Given the description of an element on the screen output the (x, y) to click on. 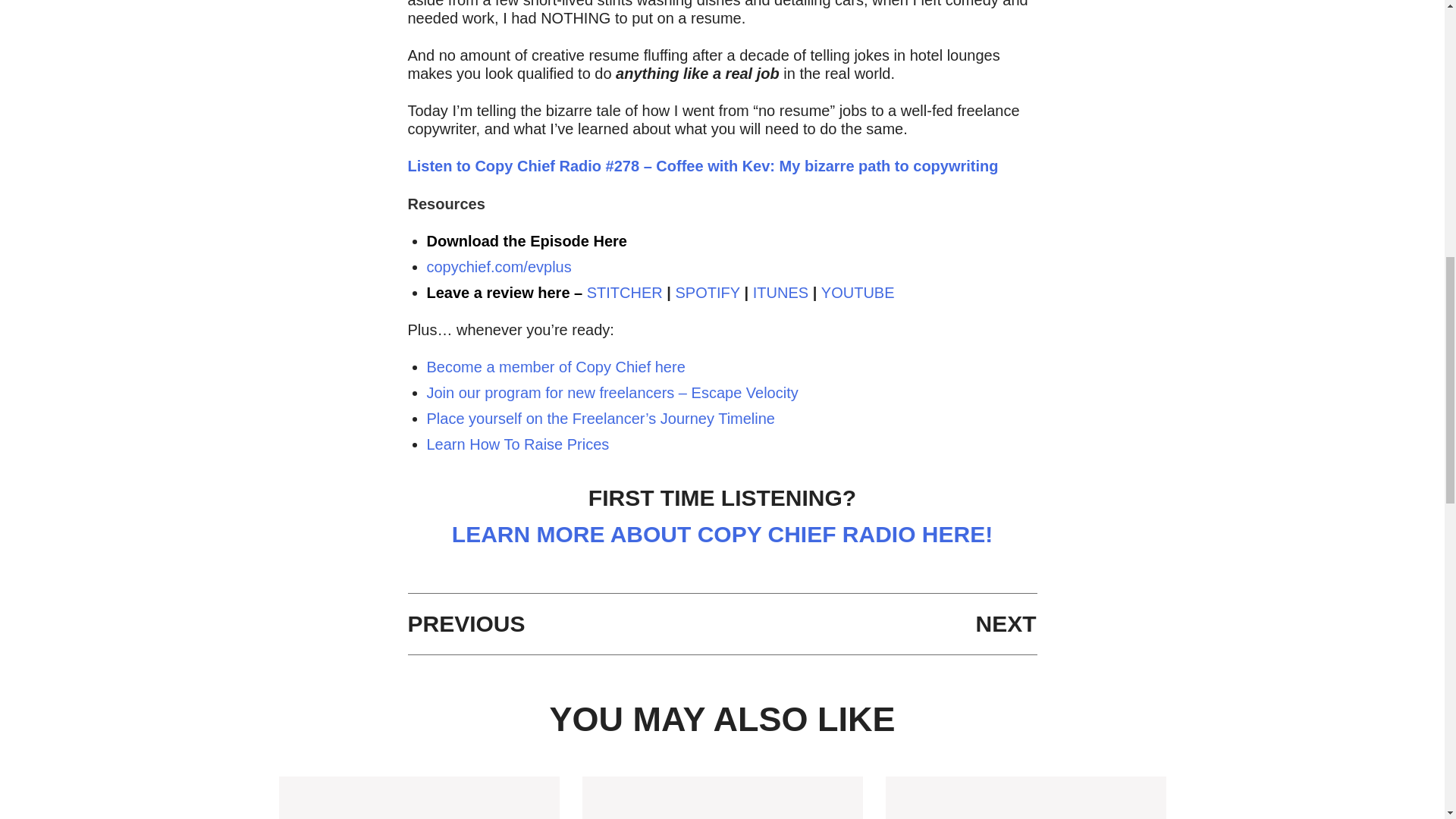
SPOTIFY (707, 292)
STITCHER (624, 292)
ITUNES (780, 292)
Become a member of Copy Chief here (555, 366)
YOUTUBE (858, 292)
Download the Episode Here (526, 240)
